Given the description of an element on the screen output the (x, y) to click on. 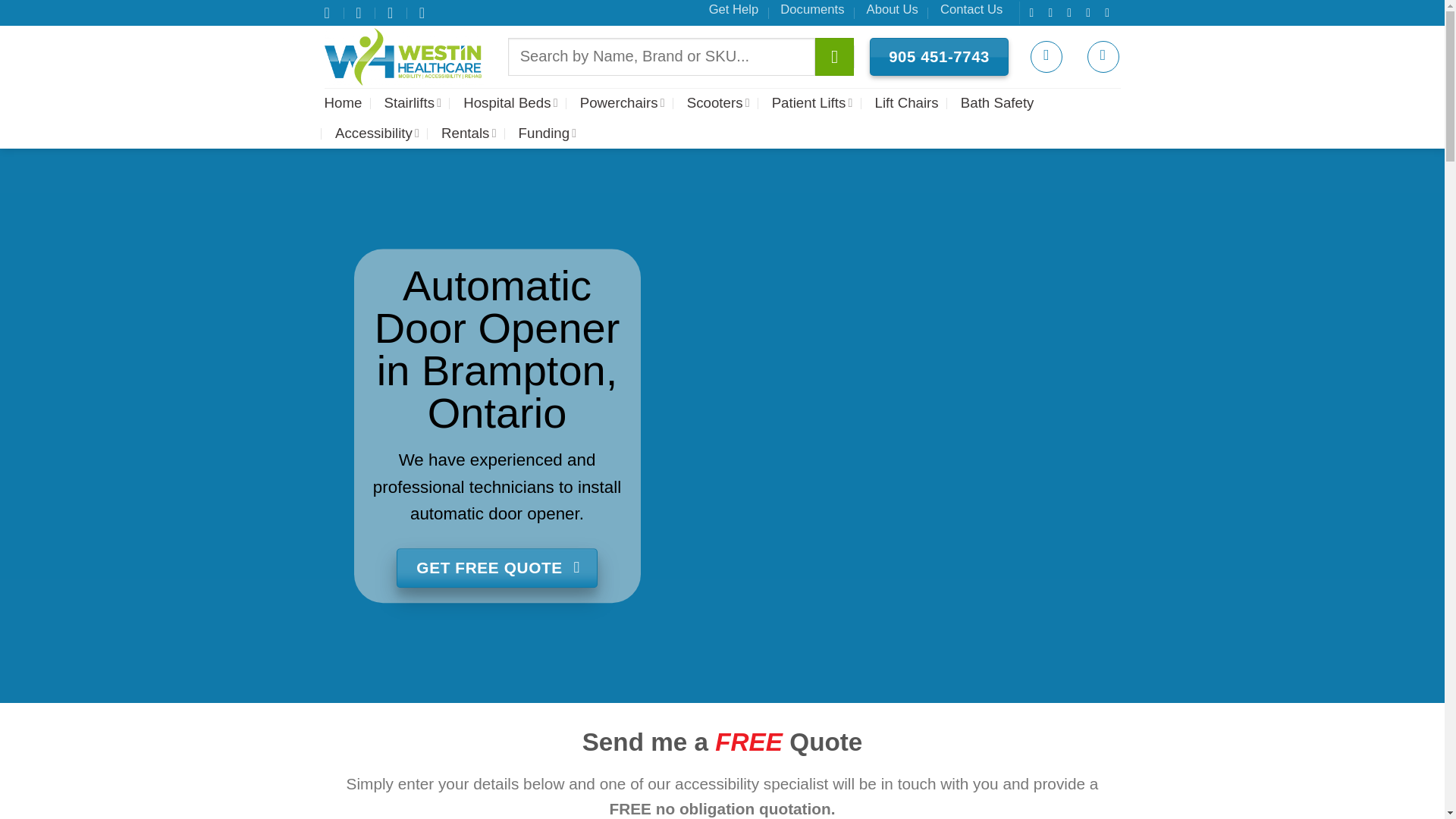
Contact Us (971, 9)
Follow on Instagram (1053, 11)
Send us an email (1091, 11)
Home (343, 102)
Stairlifts (412, 102)
Get Help (733, 9)
Follow on Twitter (1072, 11)
Documents (812, 9)
905 451-7743 (939, 56)
About Us (892, 9)
Follow on LinkedIn (1110, 11)
Search (834, 56)
Follow on Facebook (1035, 11)
